Given the description of an element on the screen output the (x, y) to click on. 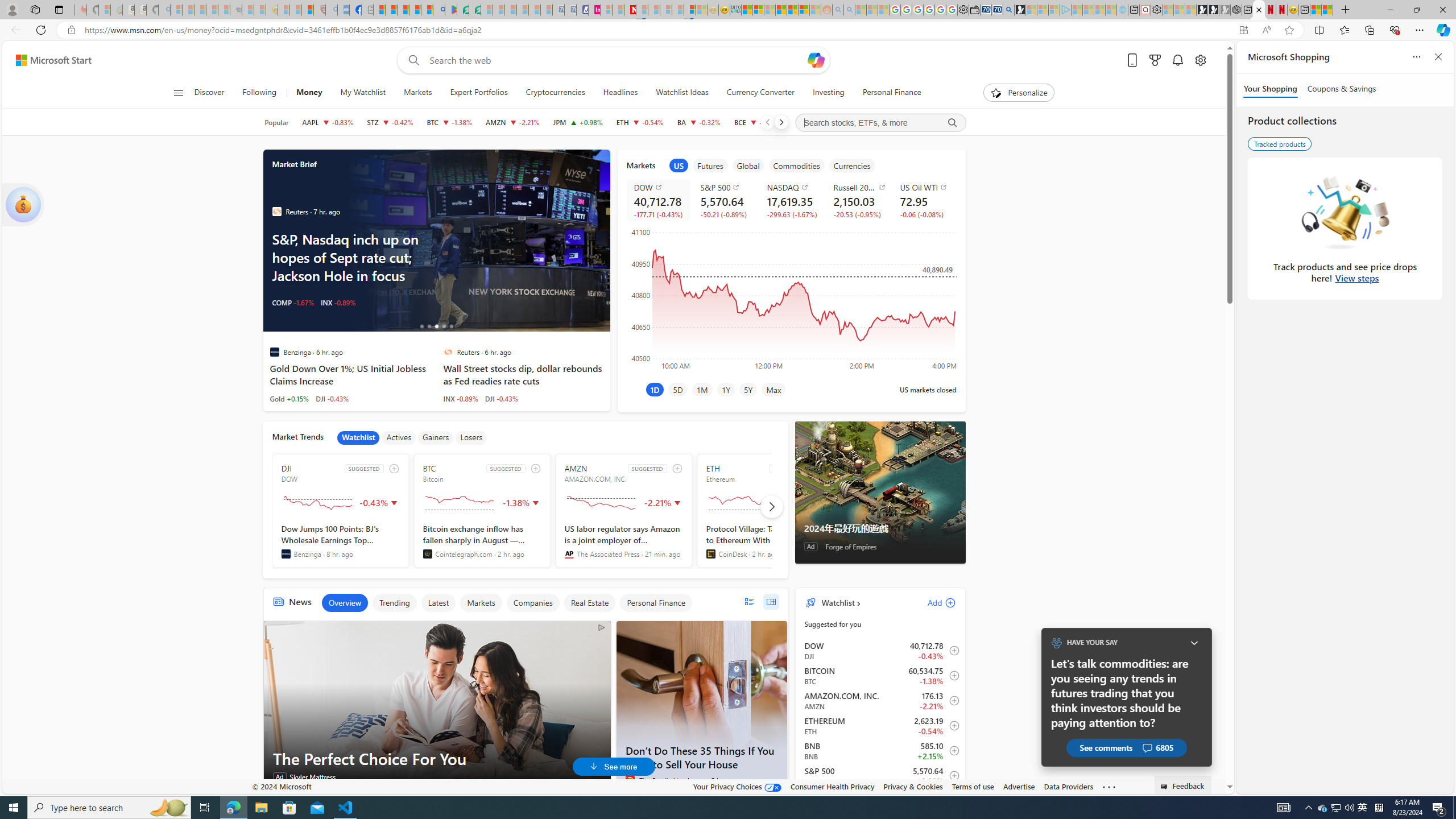
5D (677, 389)
Popular (276, 121)
Markets (417, 92)
STZ CONSTELLATION BRANDS, INC. decrease 243.70 -1.04 -0.42% (389, 122)
DJI -0.43% (501, 397)
1Y (725, 389)
Your Privacy Choices (737, 786)
App available. Install Start Money (1243, 29)
